Given the description of an element on the screen output the (x, y) to click on. 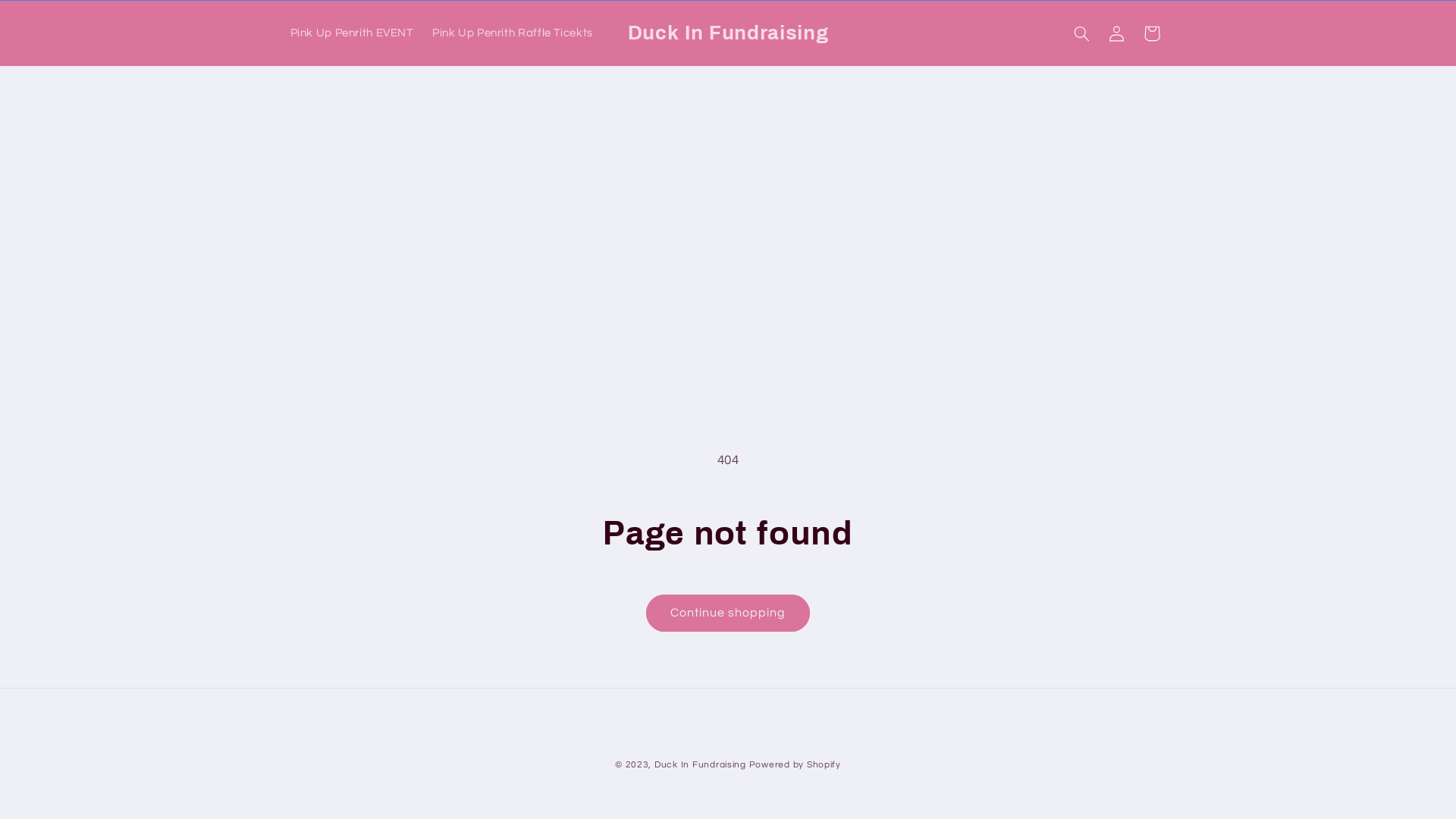
Duck In Fundraising Element type: text (700, 764)
Cart Element type: text (1151, 32)
Duck In Fundraising Element type: text (727, 33)
Powered by Shopify Element type: text (794, 764)
Continue shopping Element type: text (727, 612)
Pink Up Penrith EVENT Element type: text (351, 33)
Pink Up Penrith Raffle Ticekts Element type: text (512, 33)
Log in Element type: text (1115, 32)
